Given the description of an element on the screen output the (x, y) to click on. 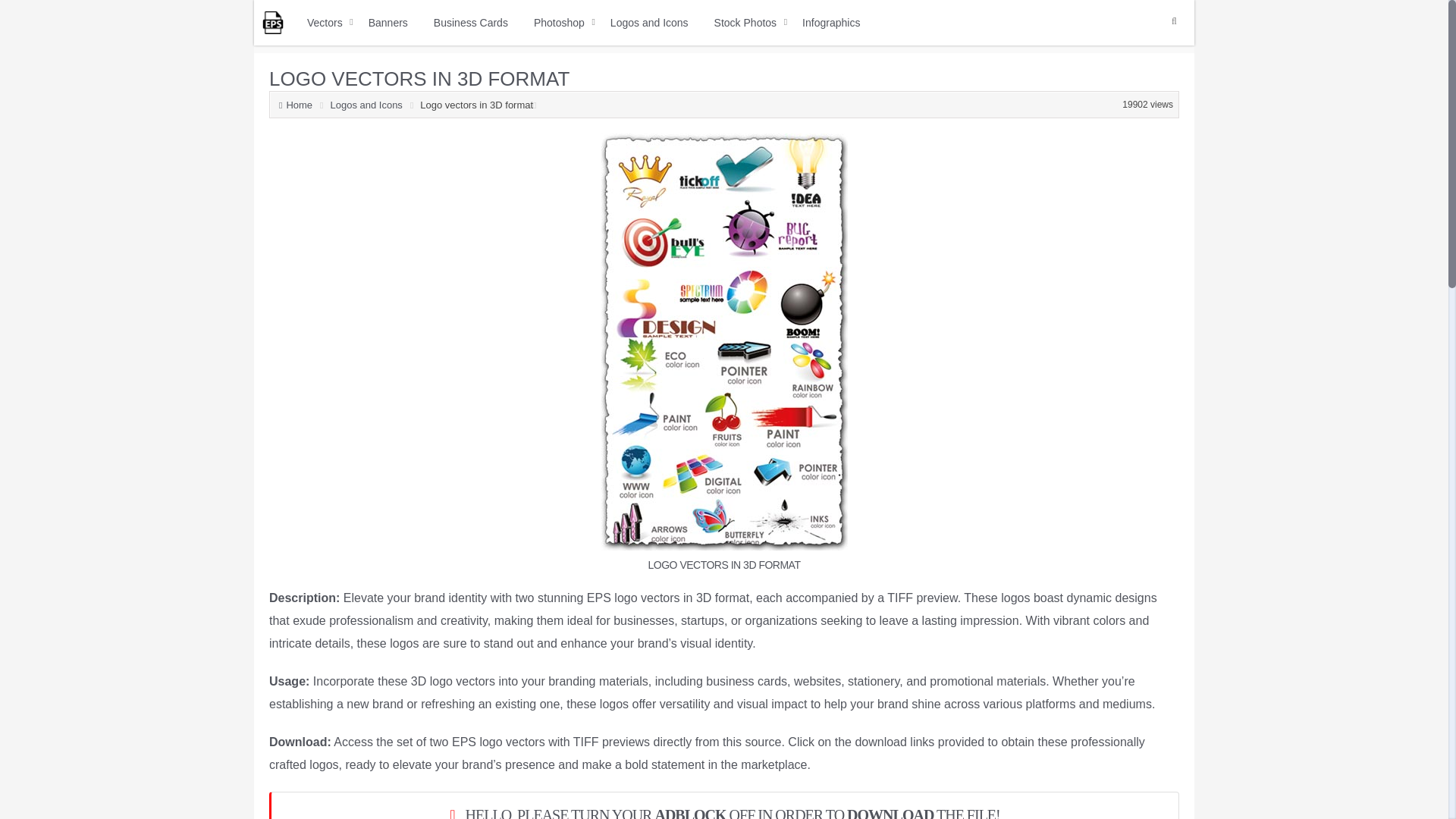
Free vectors for download (272, 22)
Business Cards (470, 22)
Photoshop graphics for download (558, 22)
Logos and Icons (369, 104)
Banners and poster materials in eps vector format (387, 22)
Logo vectors in 3D format (419, 78)
Stock Photos (745, 22)
Home (299, 104)
Banners (387, 22)
Free vector materials (324, 22)
